Given the description of an element on the screen output the (x, y) to click on. 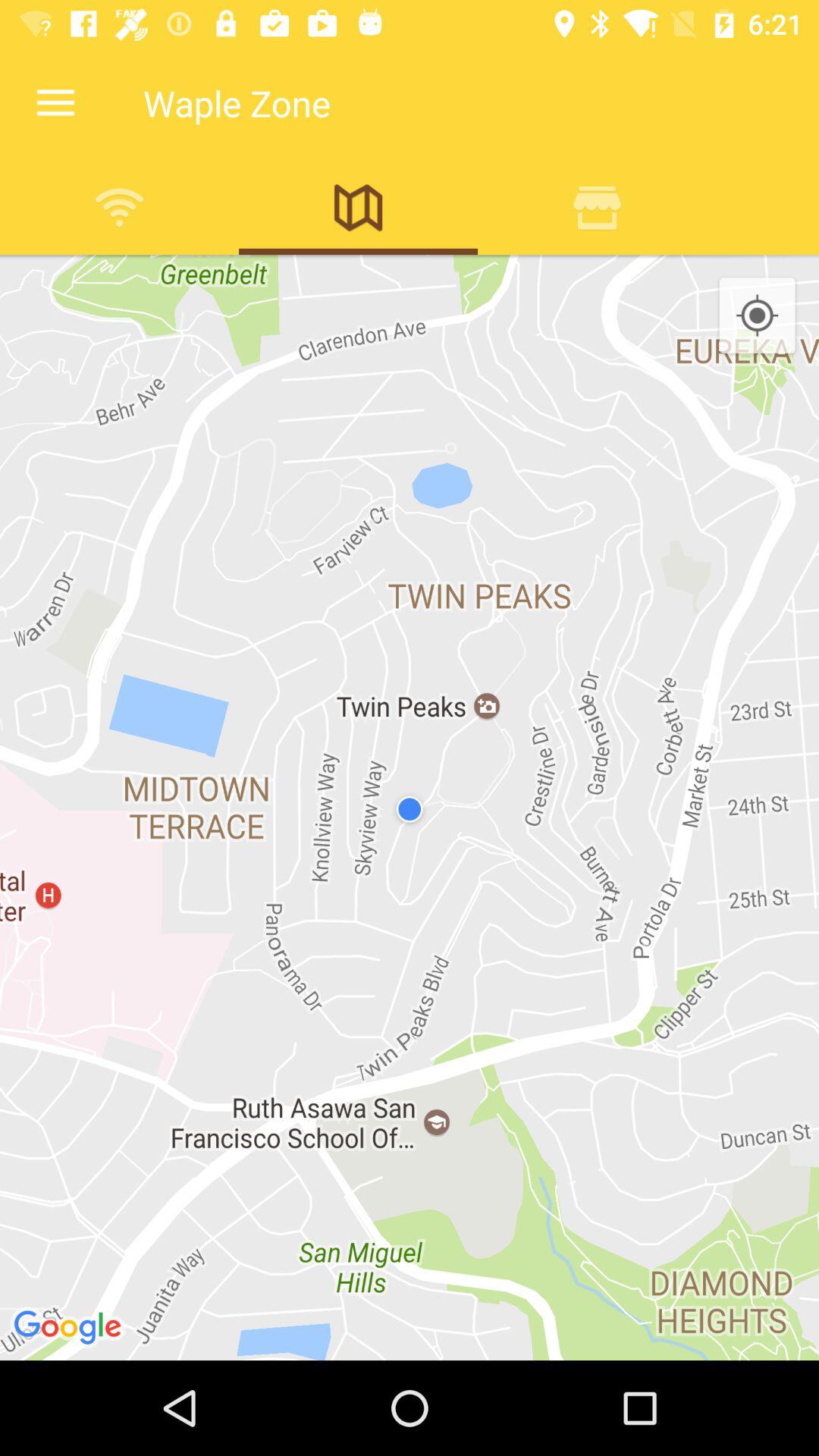
show nearby restaurants and cafes (596, 206)
